Given the description of an element on the screen output the (x, y) to click on. 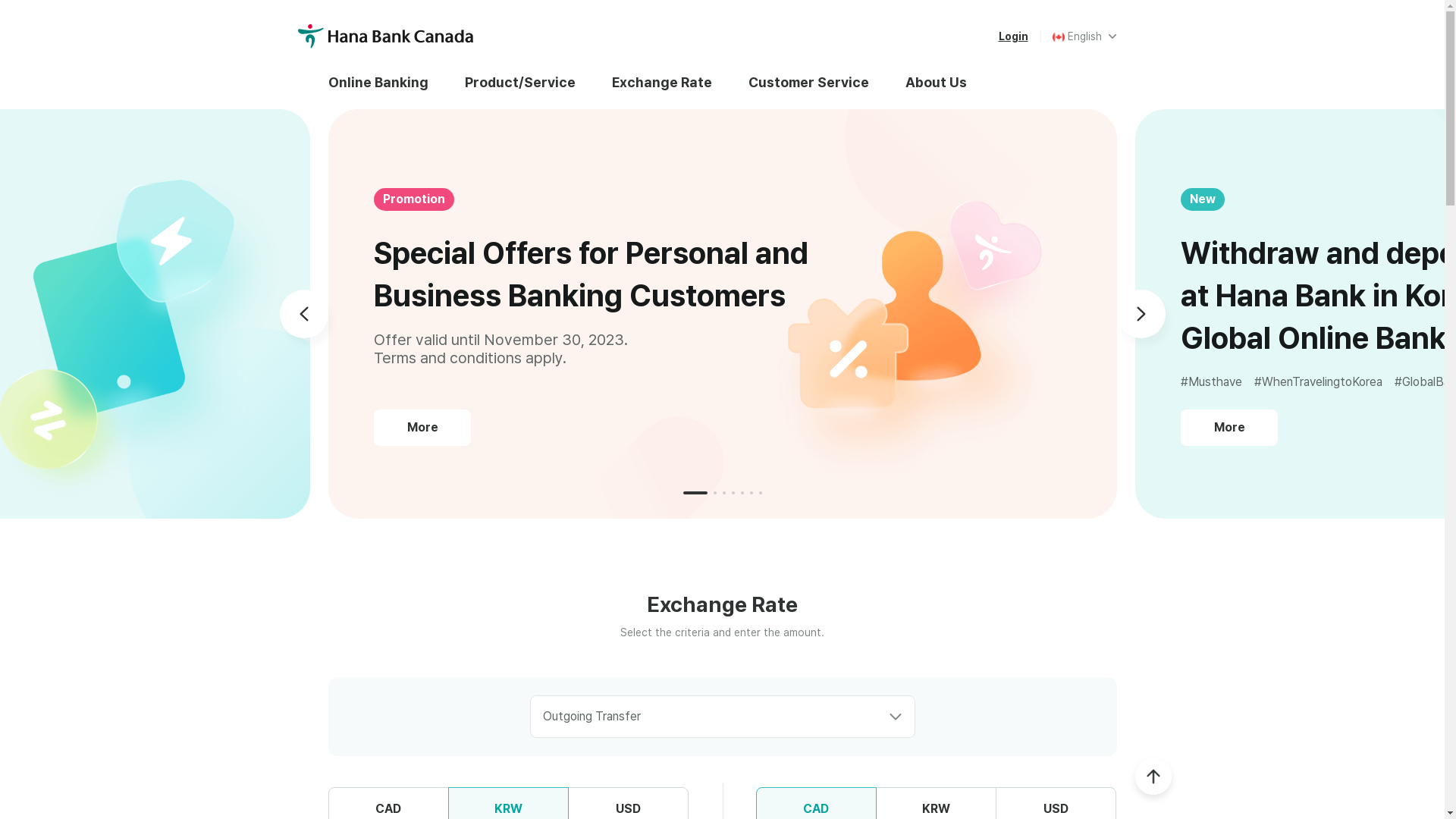
Outgoing Transfer Element type: text (721, 716)
Exchange Rate Element type: text (661, 82)
Login Element type: text (1012, 36)
Previous Element type: text (303, 313)
1 Element type: text (694, 492)
More Element type: text (421, 427)
More Element type: text (1228, 427)
2 Element type: text (713, 492)
4 Element type: text (732, 492)
3 Element type: text (722, 492)
7 Element type: text (759, 492)
English Element type: text (1084, 36)
Customer Service Element type: text (807, 82)
Hana Bank Canada Element type: text (385, 36)
5 Element type: text (741, 492)
Product/Service Element type: text (519, 82)
Online Banking Element type: text (386, 82)
About Us Element type: text (936, 82)
Next Element type: text (1140, 313)
Go to TOP Element type: hover (1152, 776)
6 Element type: text (750, 492)
